Given the description of an element on the screen output the (x, y) to click on. 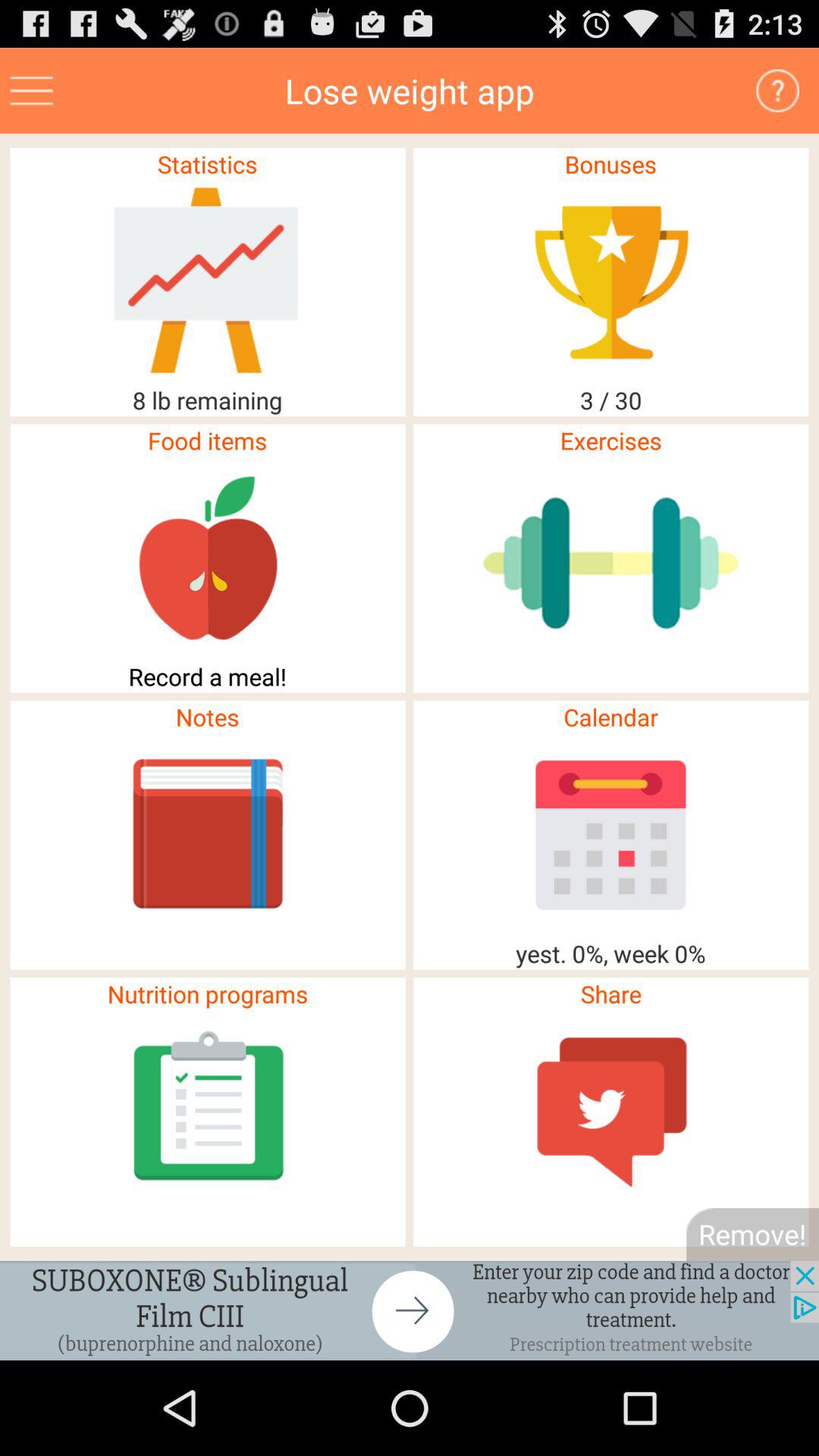
advertisement page (409, 1310)
